Given the description of an element on the screen output the (x, y) to click on. 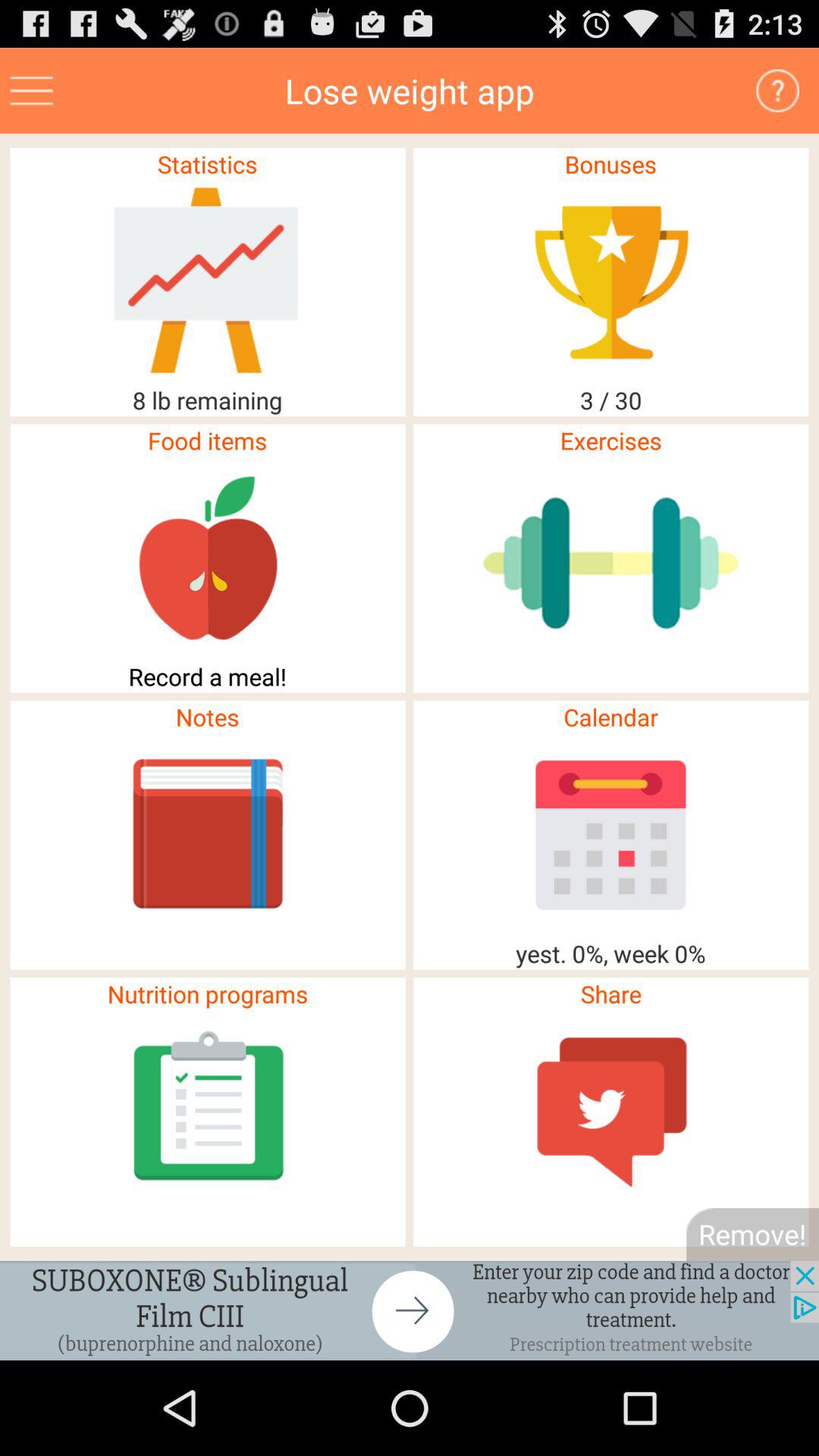
advertisement page (409, 1310)
